Given the description of an element on the screen output the (x, y) to click on. 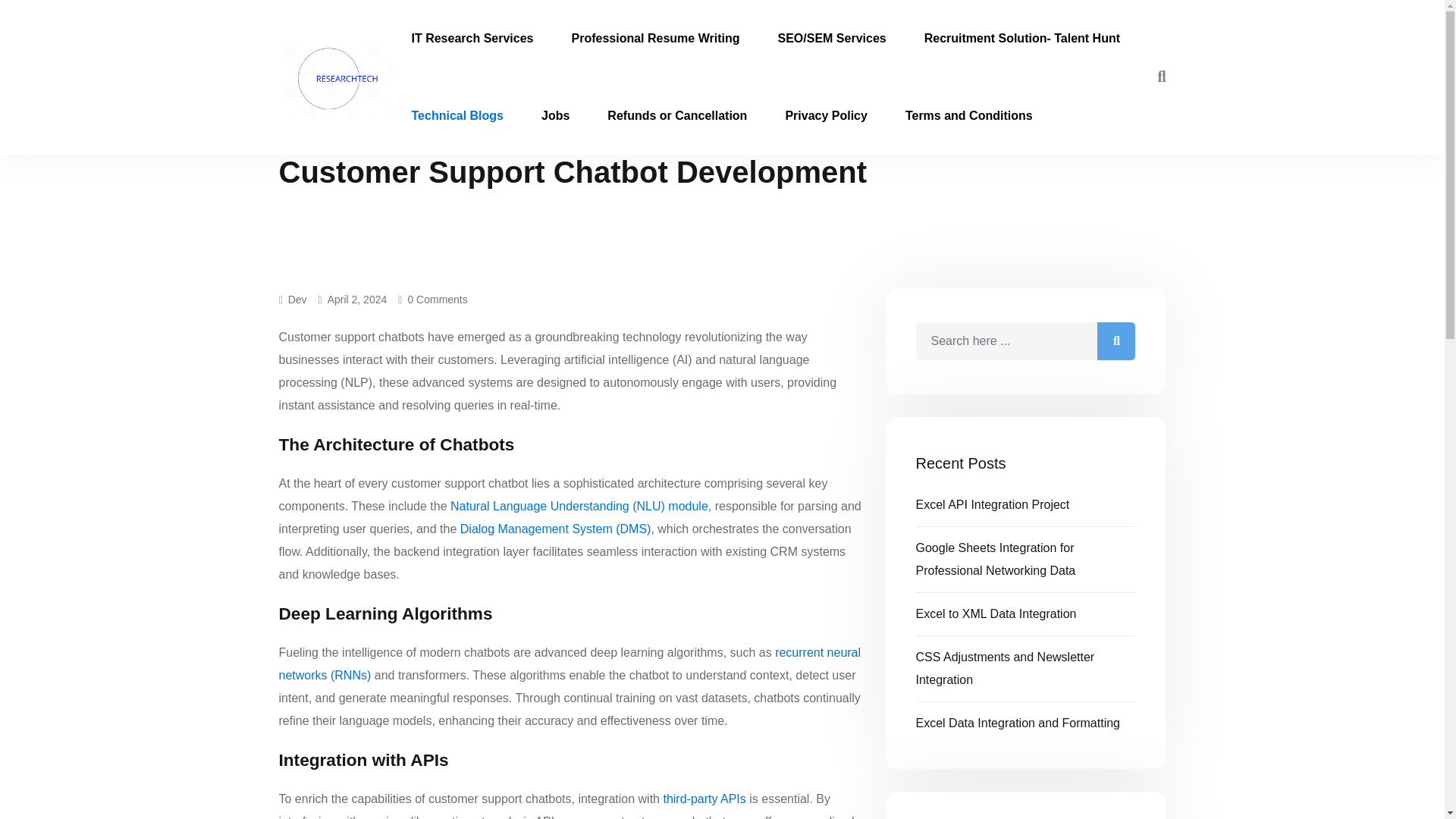
Terms and Conditions (968, 115)
Privacy Policy (825, 115)
Recruitment Solution- Talent Hunt (1021, 38)
Professional Resume Writing (654, 38)
third-party APIs (703, 798)
IT Research Services (473, 38)
Technical Blogs (457, 115)
Refunds or Cancellation (676, 115)
